Given the description of an element on the screen output the (x, y) to click on. 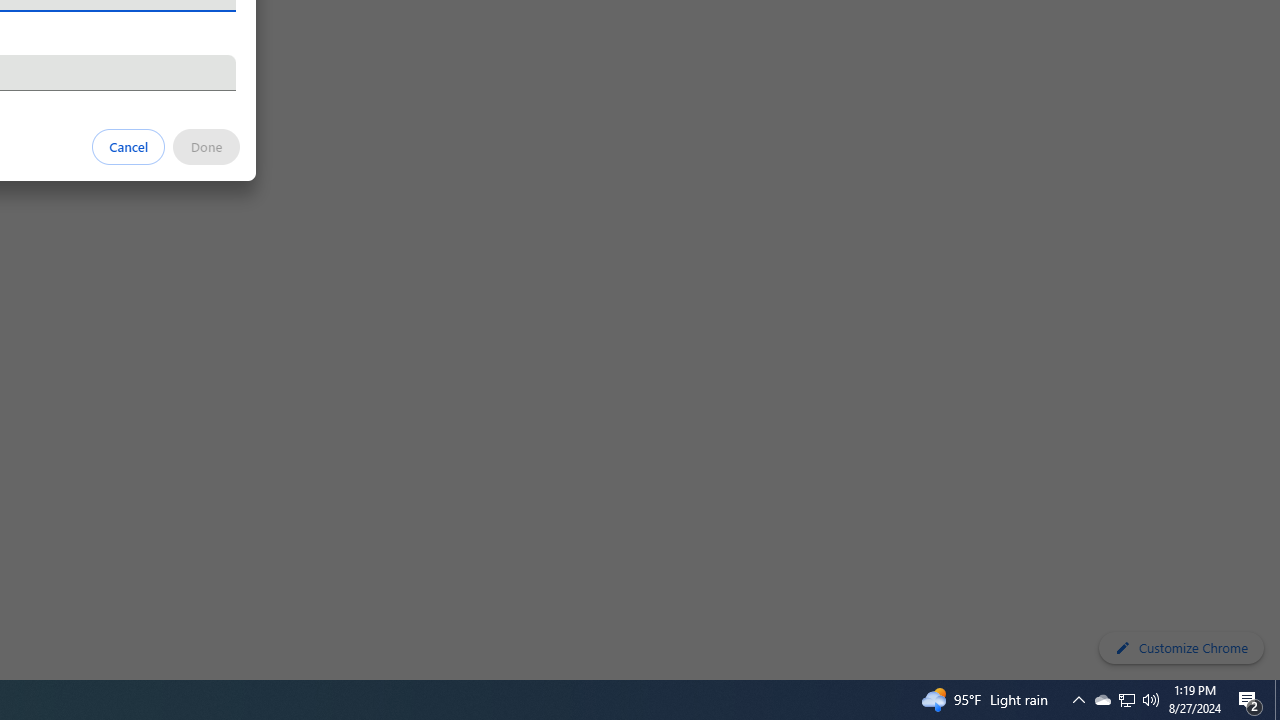
Done (206, 146)
Cancel (129, 146)
